Given the description of an element on the screen output the (x, y) to click on. 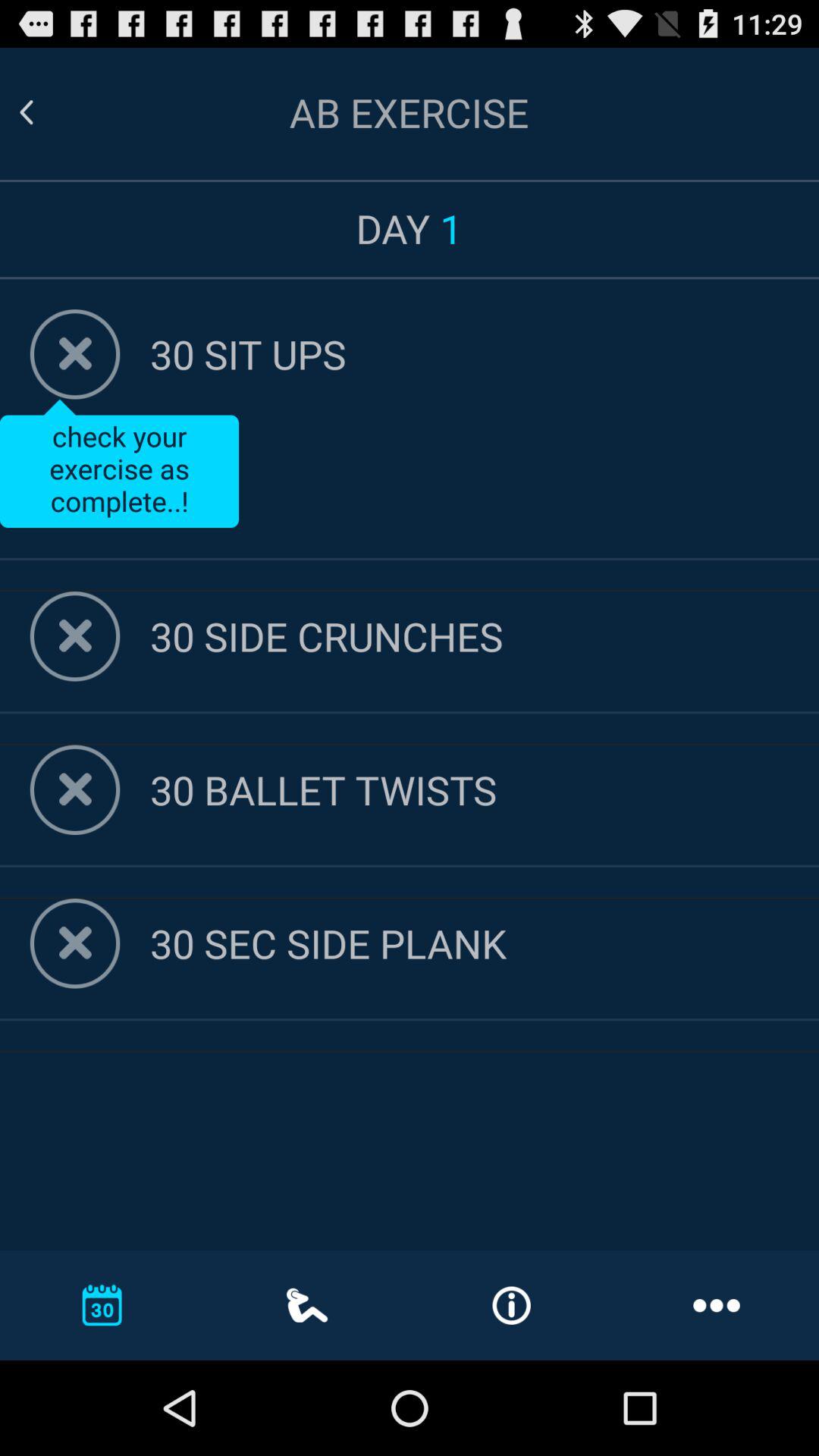
swipe to the 30 sit ups item (484, 353)
